Given the description of an element on the screen output the (x, y) to click on. 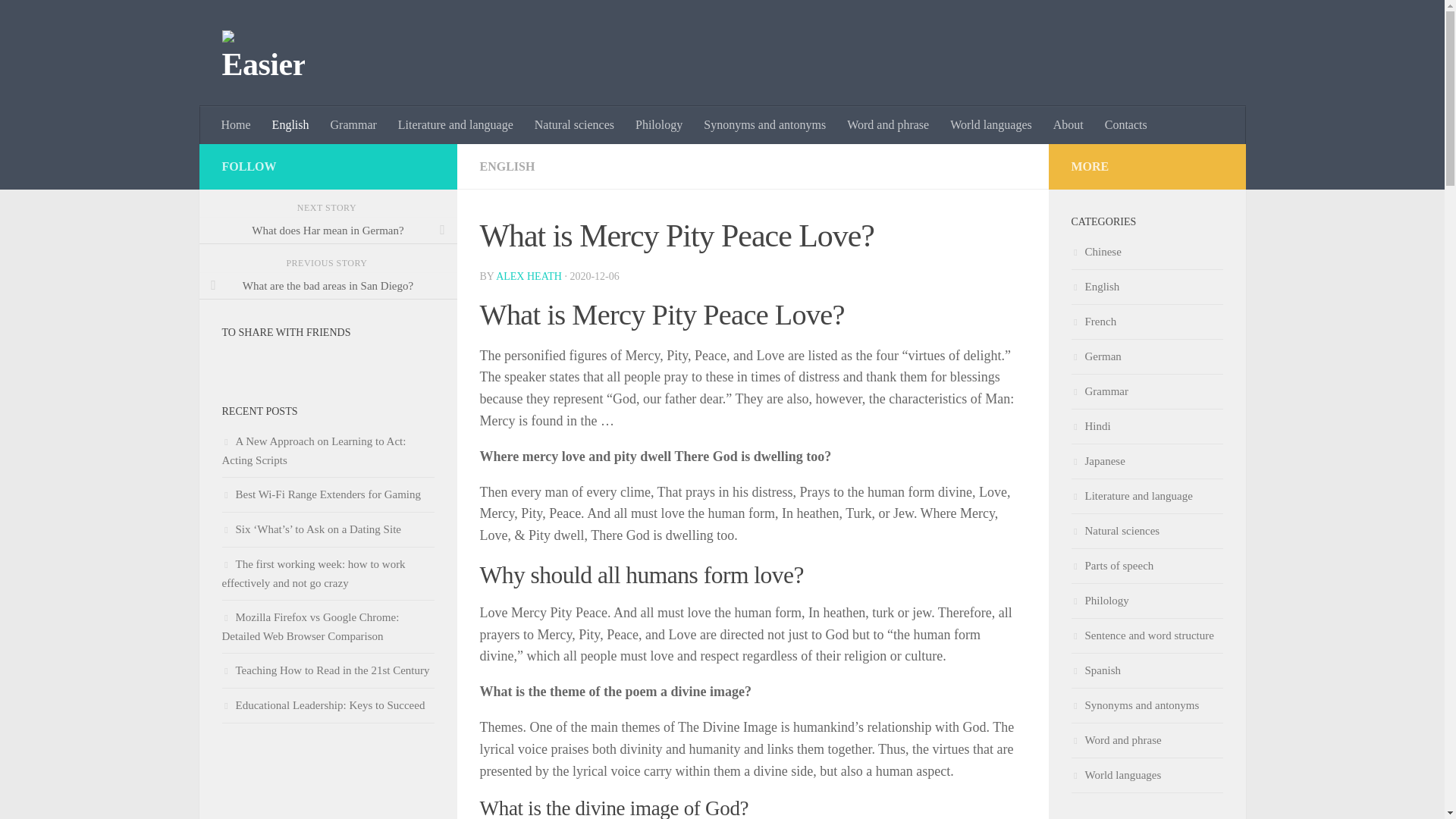
Skip to content (59, 20)
Literature and language (455, 125)
Posts by Alex Heath (529, 276)
Word and phrase (887, 125)
Grammar (353, 125)
Home (236, 125)
ALEX HEATH (529, 276)
Synonyms and antonyms (764, 125)
Contacts (1125, 125)
World languages (990, 125)
ENGLISH (506, 165)
Natural sciences (574, 125)
English (291, 125)
About (1068, 125)
What does Har mean in German? (327, 230)
